Given the description of an element on the screen output the (x, y) to click on. 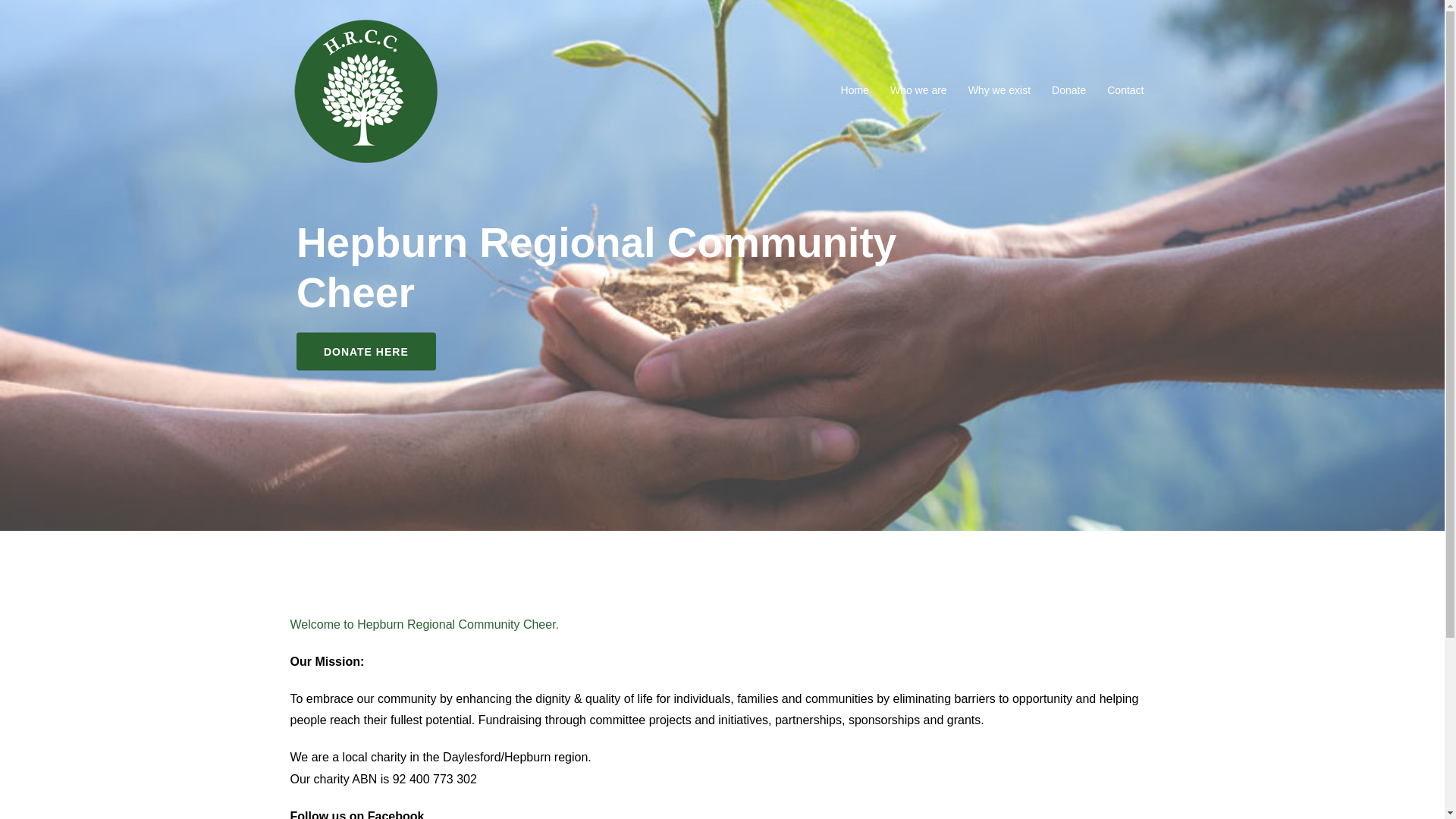
Home Element type: text (854, 90)
Why we exist Element type: text (999, 90)
Contact Element type: text (1125, 90)
DONATE HERE Element type: text (366, 351)
Hepburn Regional Community Cheer Element type: hover (365, 89)
Who we are Element type: text (918, 90)
Donate Element type: text (1068, 90)
